Given the description of an element on the screen output the (x, y) to click on. 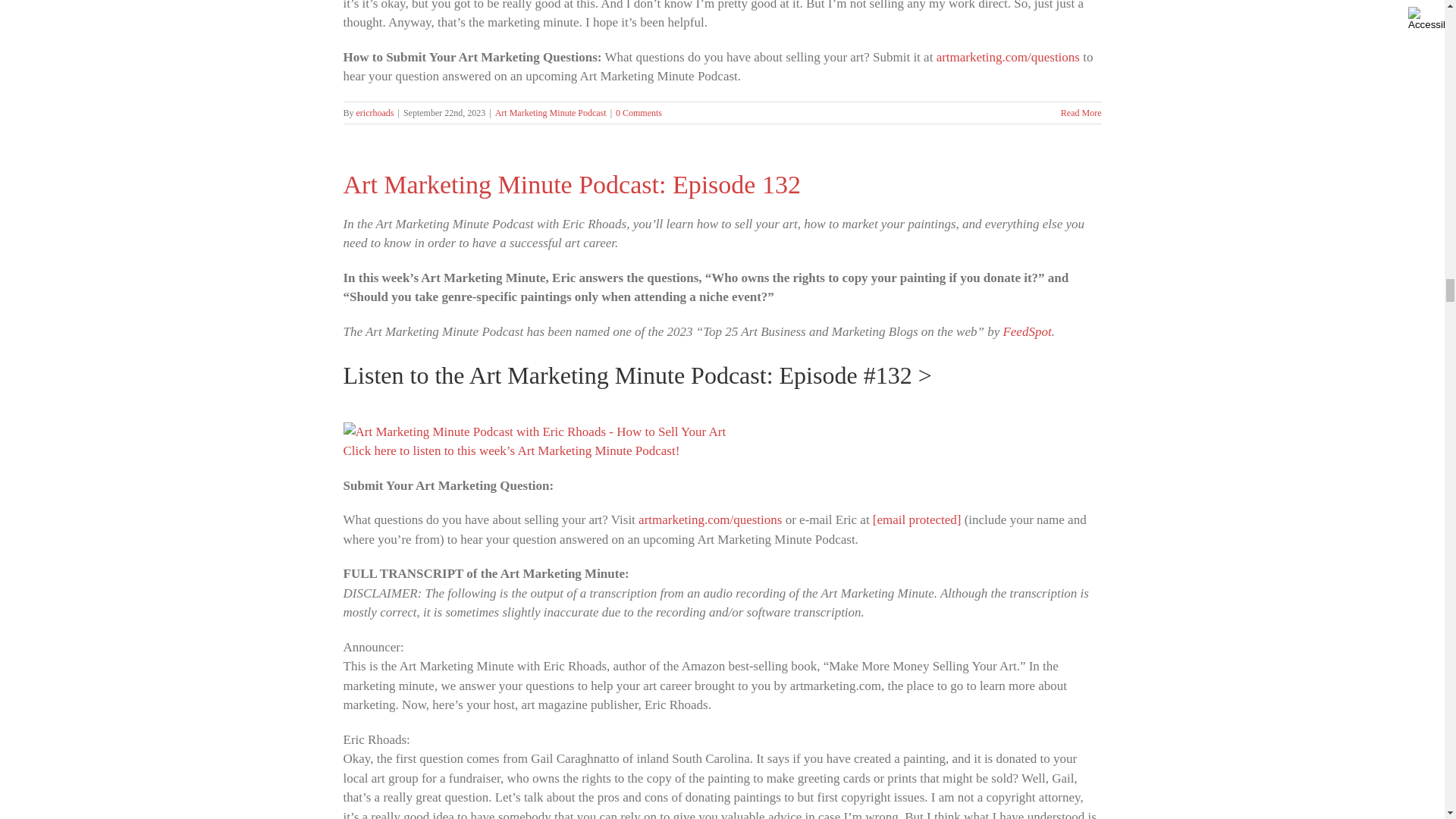
Posts by ericrhoads (375, 112)
